Given the description of an element on the screen output the (x, y) to click on. 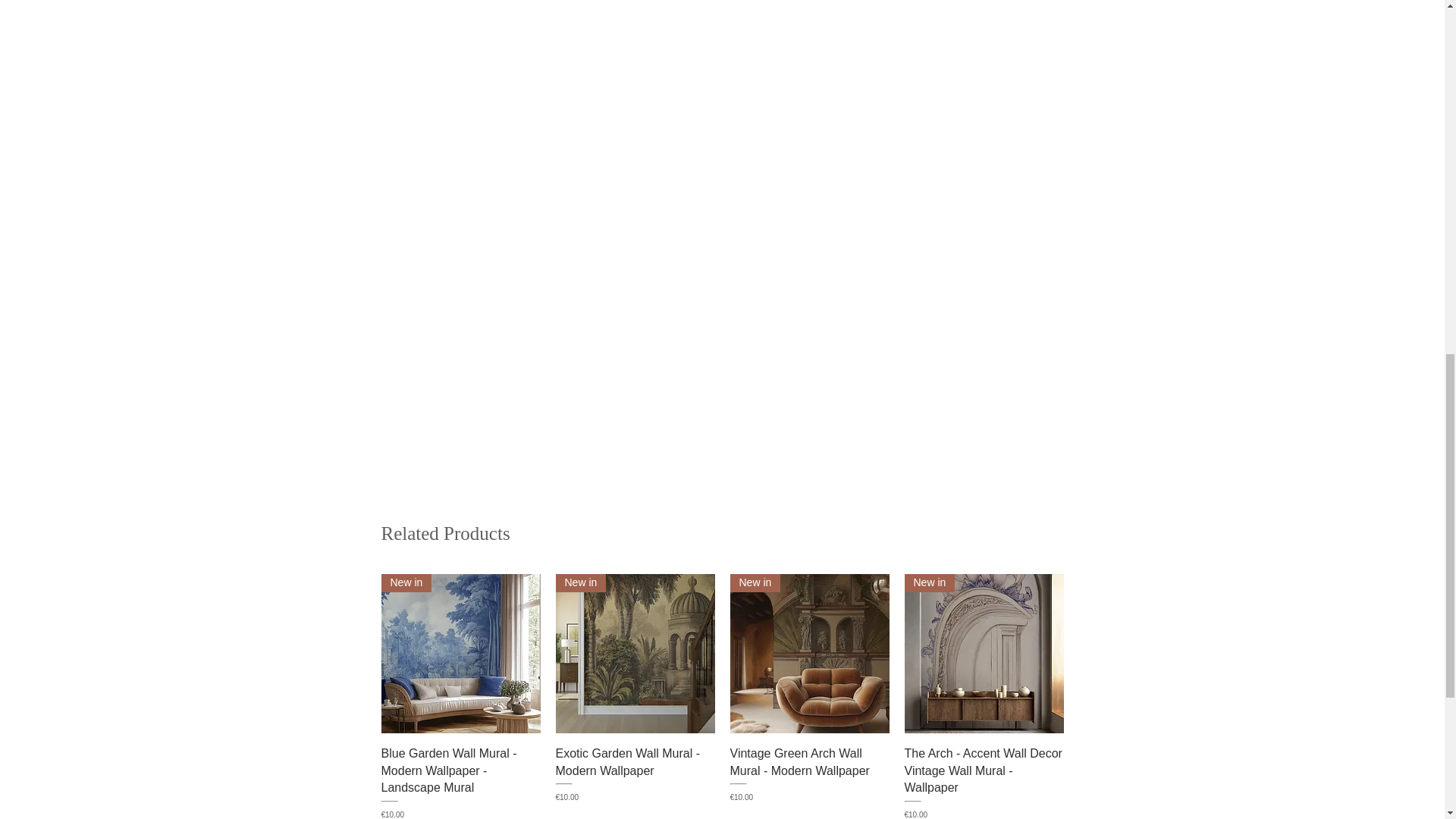
New in (983, 653)
New in (808, 653)
New in (634, 653)
New in (460, 653)
